Given the description of an element on the screen output the (x, y) to click on. 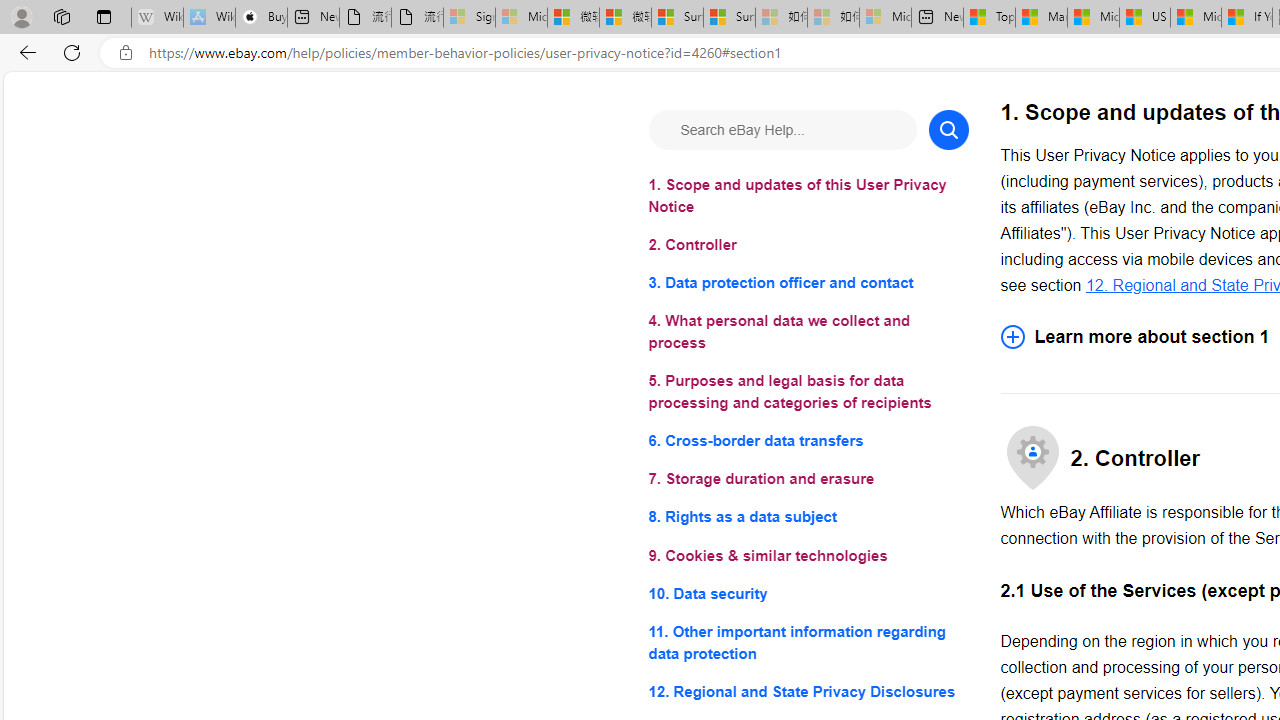
10. Data security (807, 592)
12. Regional and State Privacy Disclosures (807, 690)
Sign in to your Microsoft account - Sleeping (469, 17)
2. Controller (807, 245)
8. Rights as a data subject (807, 517)
4. What personal data we collect and process (807, 332)
2. Controller (807, 245)
Buy iPad - Apple (260, 17)
Marine life - MSN (1041, 17)
11. Other important information regarding data protection (807, 642)
US Heat Deaths Soared To Record High Last Year (1144, 17)
